Given the description of an element on the screen output the (x, y) to click on. 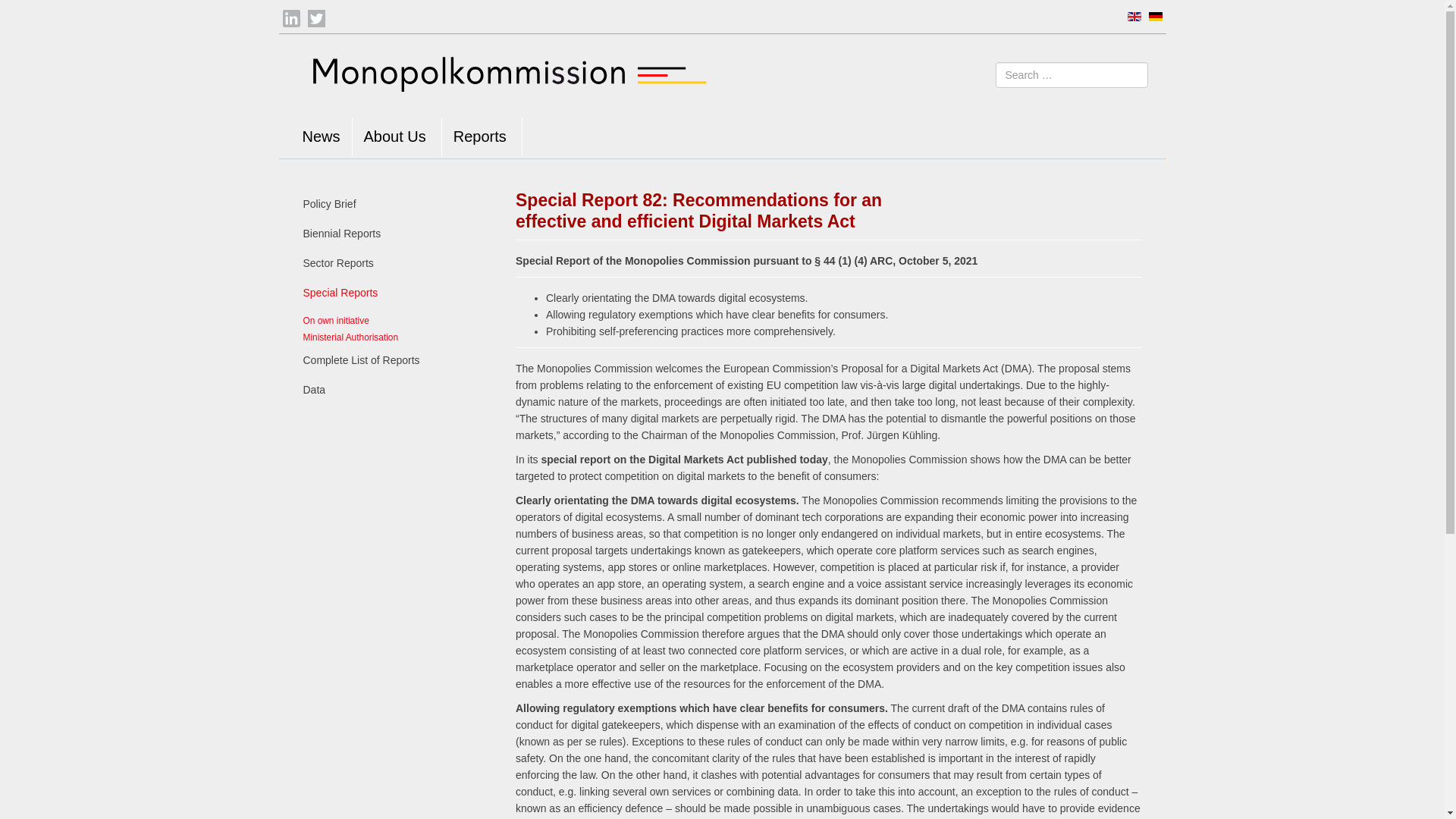
On own initiative (335, 320)
Data (397, 389)
Complete List of Reports (397, 360)
Sector Reports (397, 263)
About Us (396, 136)
News (321, 136)
Ministerial Authorisation (350, 337)
Biennial Reports (397, 233)
Special Reports (397, 292)
linkedin (291, 18)
